Given the description of an element on the screen output the (x, y) to click on. 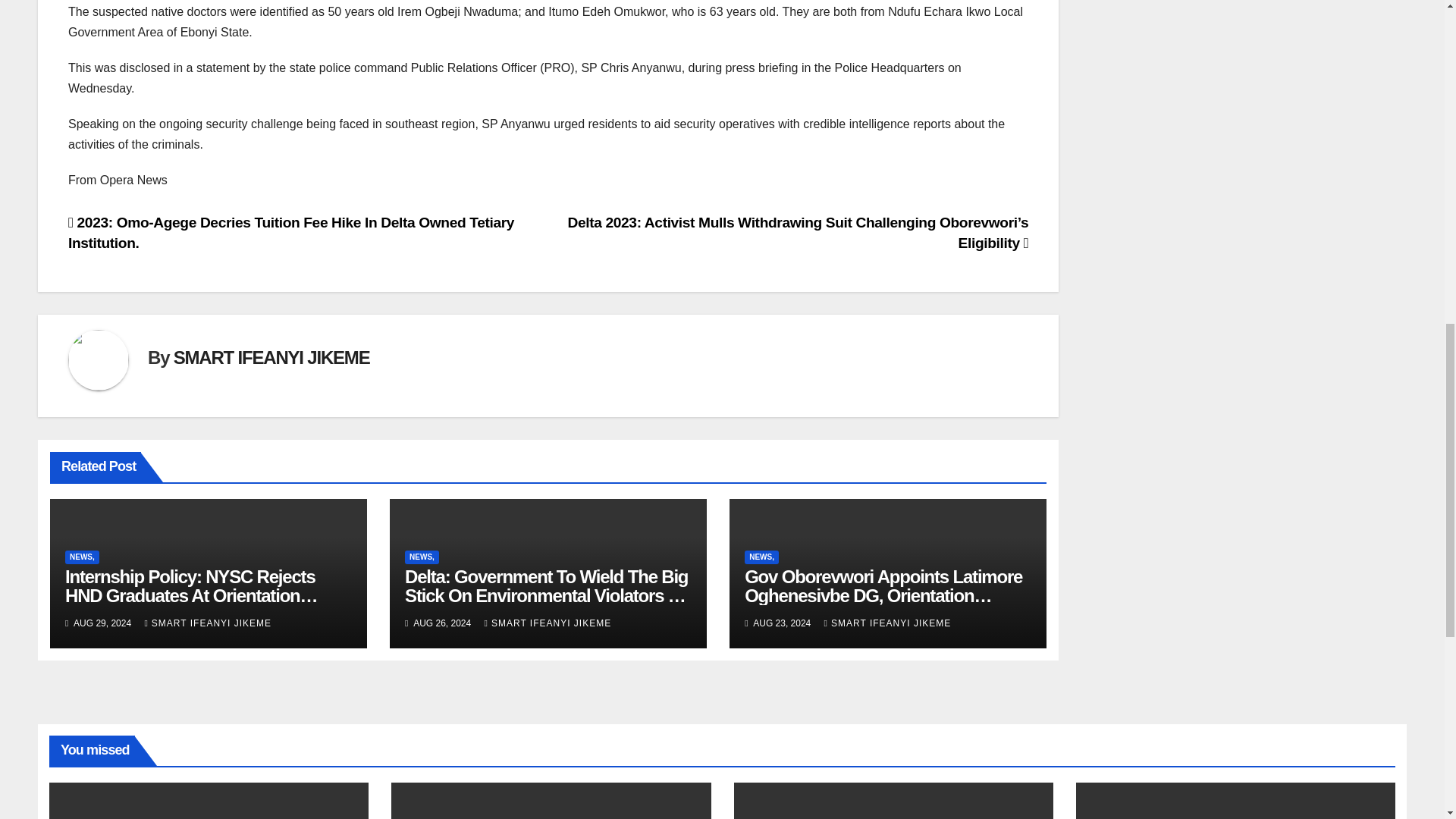
NEWS, (82, 557)
SMART IFEANYI JIKEME (888, 623)
SMART IFEANYI JIKEME (271, 357)
SMART IFEANYI JIKEME (207, 623)
SMART IFEANYI JIKEME (547, 623)
NEWS, (761, 557)
NEWS, (421, 557)
